Given the description of an element on the screen output the (x, y) to click on. 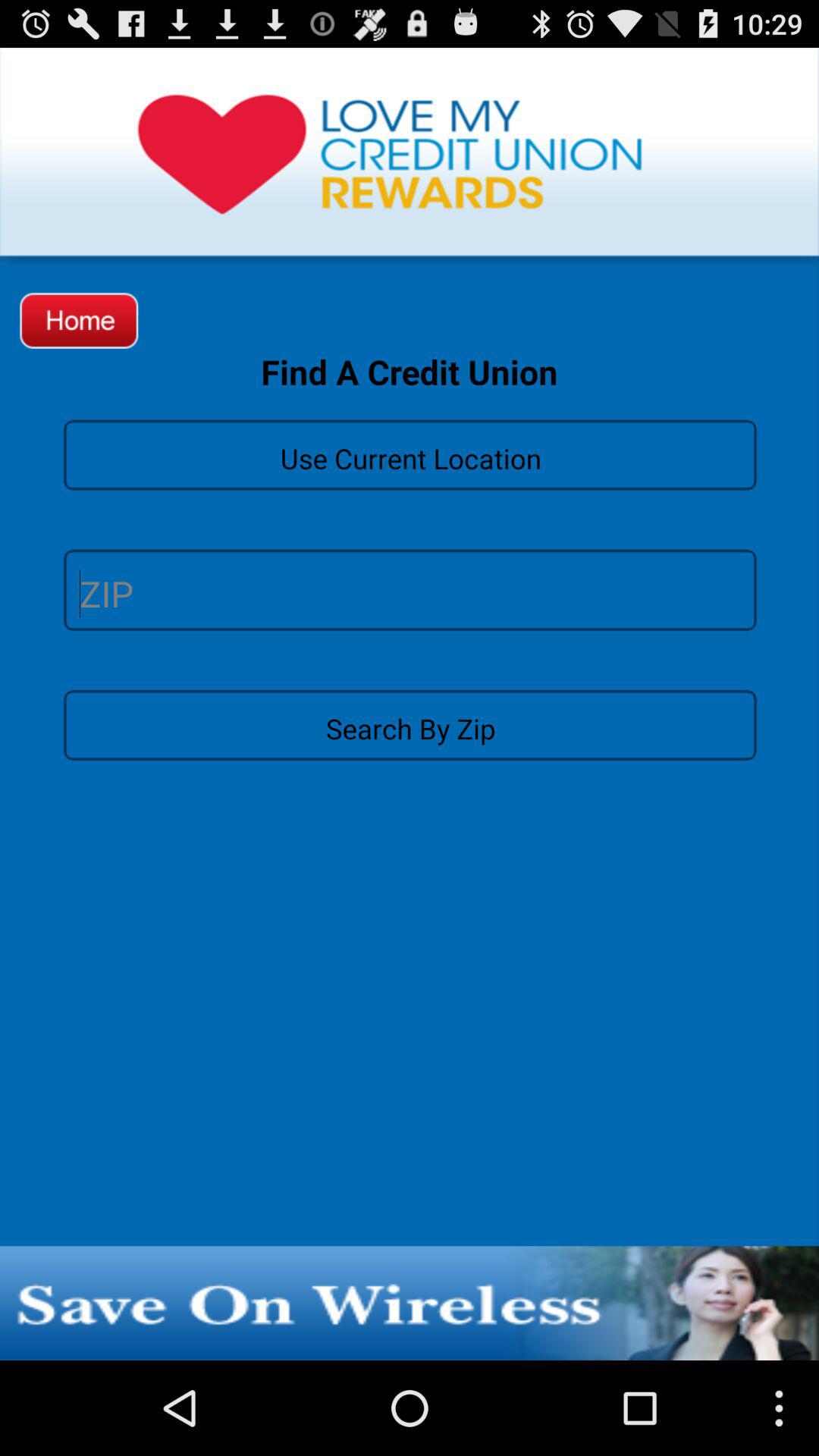
jump to use current location button (409, 454)
